Given the description of an element on the screen output the (x, y) to click on. 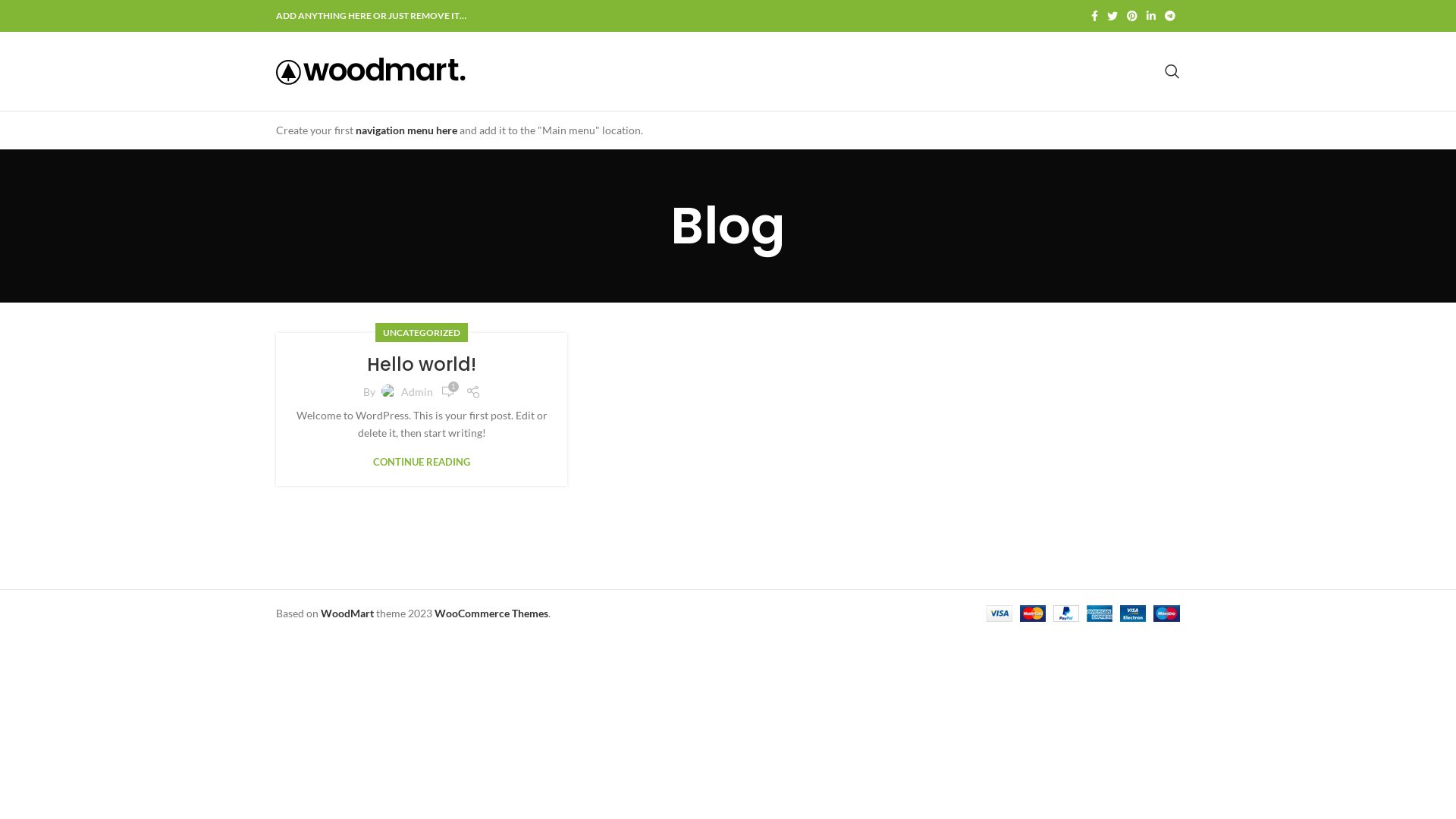
WoodMart Element type: text (346, 612)
WooCommerce Themes Element type: text (491, 612)
Admin Element type: text (416, 391)
Search Element type: hover (1172, 71)
UNCATEGORIZED Element type: text (421, 332)
navigation menu here Element type: text (406, 129)
1 Element type: text (447, 391)
Hello world! Element type: text (421, 363)
CONTINUE READING Element type: text (421, 462)
